Given the description of an element on the screen output the (x, y) to click on. 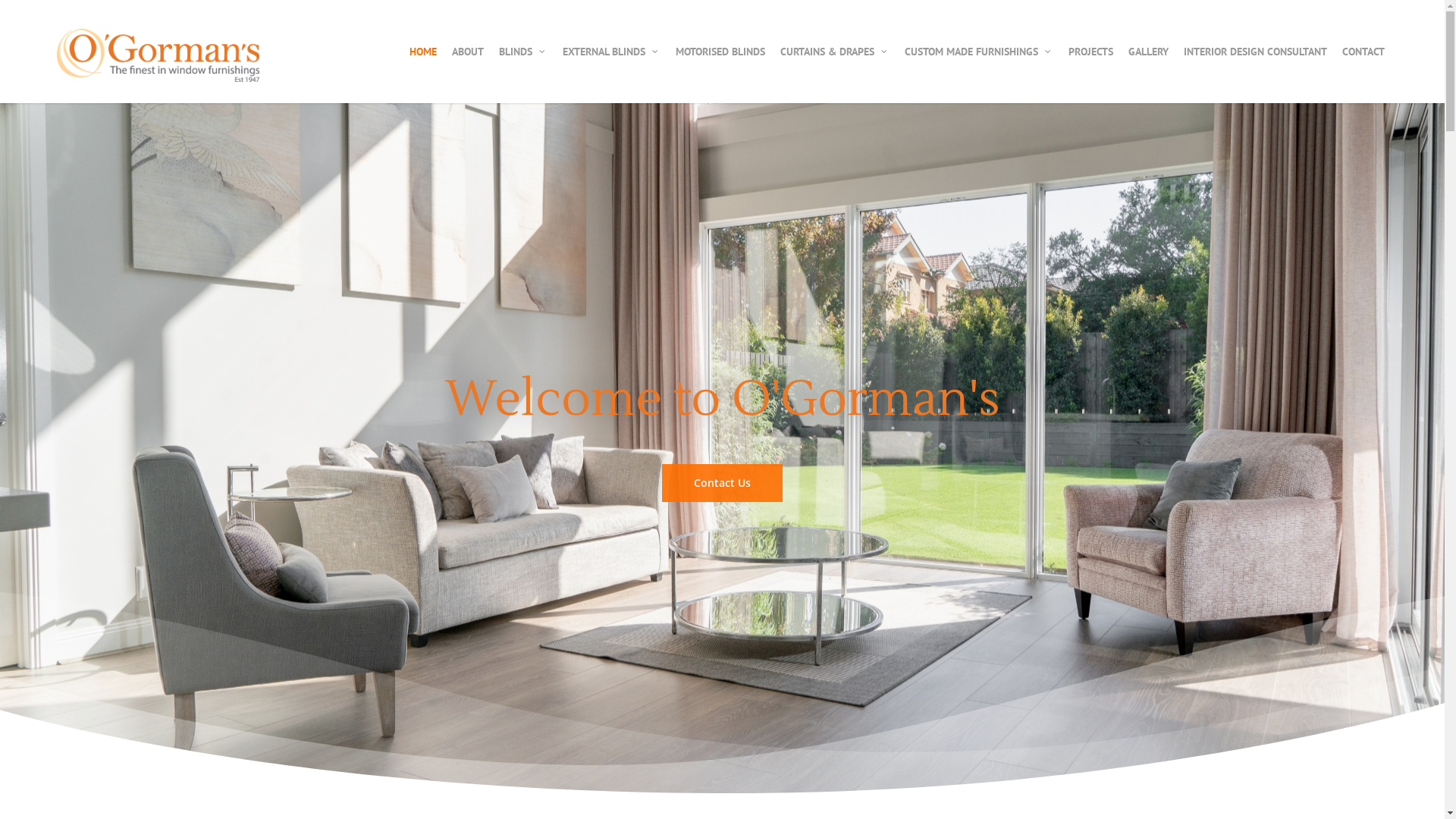
EXTERNAL BLINDS Element type: text (611, 51)
GALLERY Element type: text (1148, 51)
PROJECTS Element type: text (1090, 51)
MOTORISED BLINDS Element type: text (720, 51)
CONTACT Element type: text (1363, 51)
INTERIOR DESIGN CONSULTANT Element type: text (1255, 51)
Contact Us Element type: text (722, 483)
CUSTOM MADE FURNISHINGS Element type: text (978, 51)
HOME Element type: text (422, 51)
ABOUT Element type: text (467, 51)
BLINDS Element type: text (523, 51)
CURTAINS & DRAPES Element type: text (834, 51)
